Given the description of an element on the screen output the (x, y) to click on. 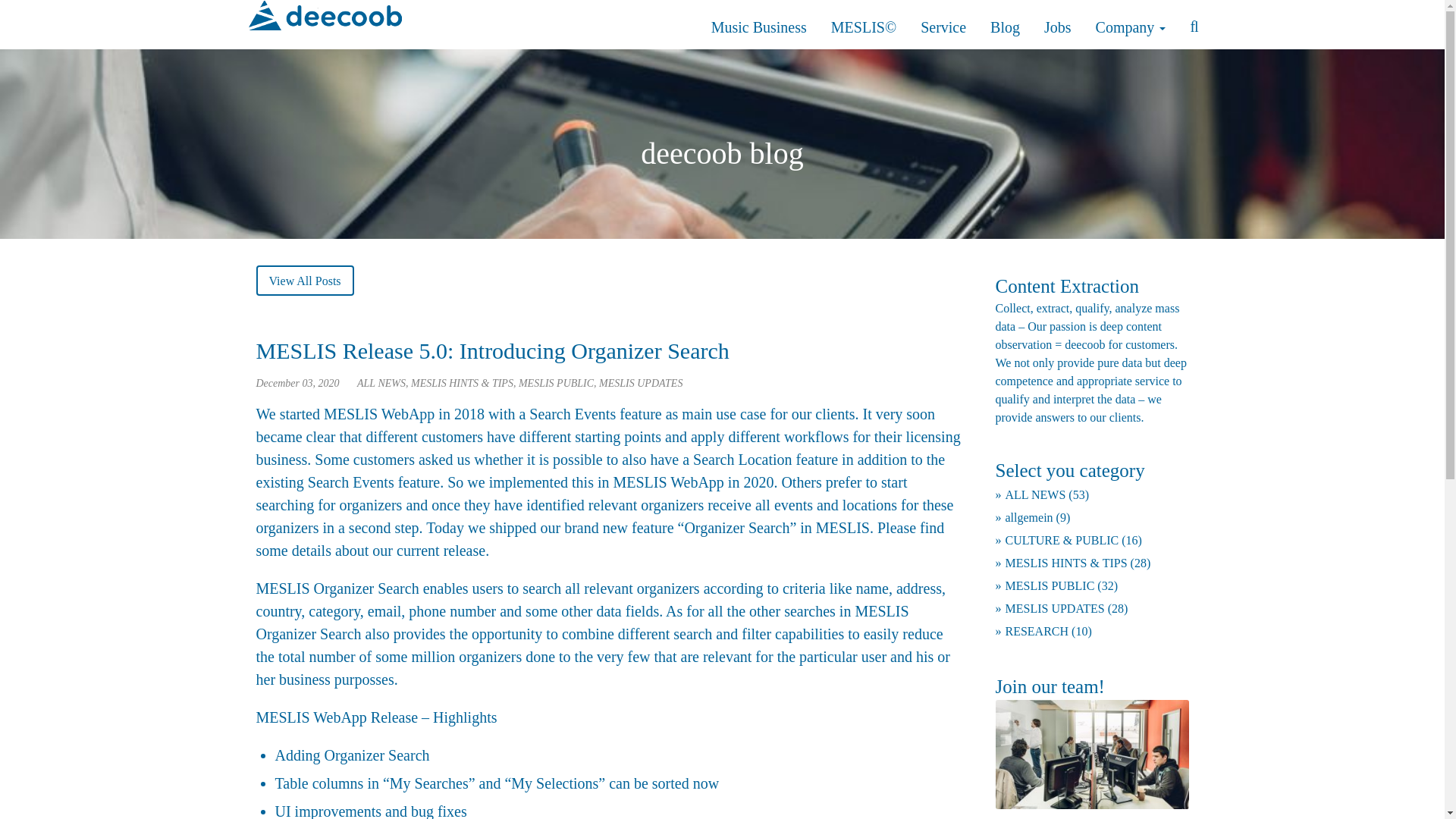
Company (1131, 27)
ALL NEWS (1029, 495)
MESLIS Release 5.0: Introducing Organizer Search (492, 350)
Service (943, 27)
RESEARCH (1031, 630)
Blog (1005, 27)
Blog (1005, 27)
ALL NEWS (381, 383)
Music Business (758, 27)
Company (1131, 27)
MESLIS PUBLIC (556, 383)
View All Posts (304, 280)
Music Business (758, 27)
allgemein (1023, 517)
Service (943, 27)
